Given the description of an element on the screen output the (x, y) to click on. 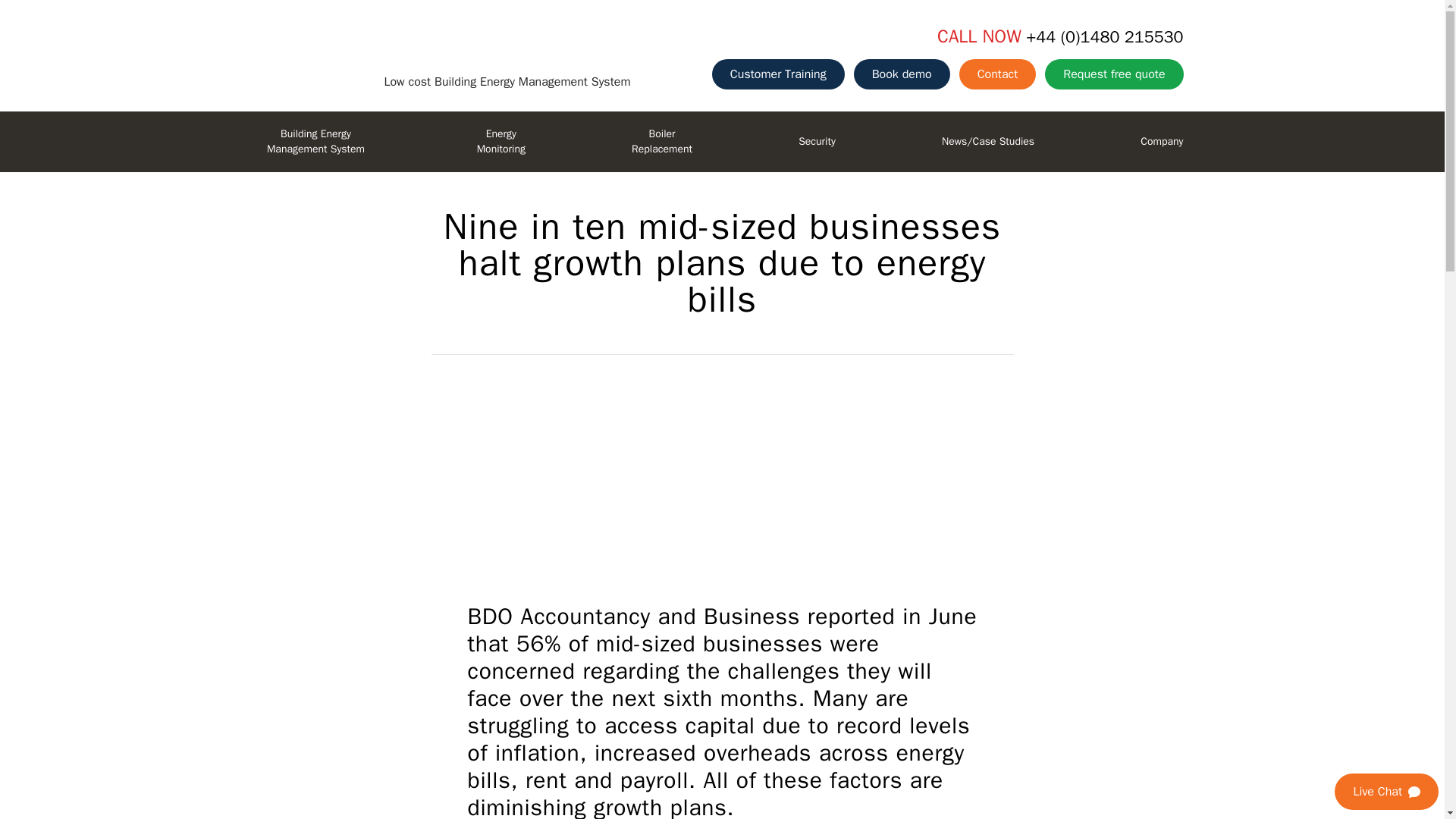
Building Energy Management System (314, 141)
Book demo (901, 73)
Request free quote (1113, 73)
Contact (500, 141)
Customer Training (997, 73)
